Given the description of an element on the screen output the (x, y) to click on. 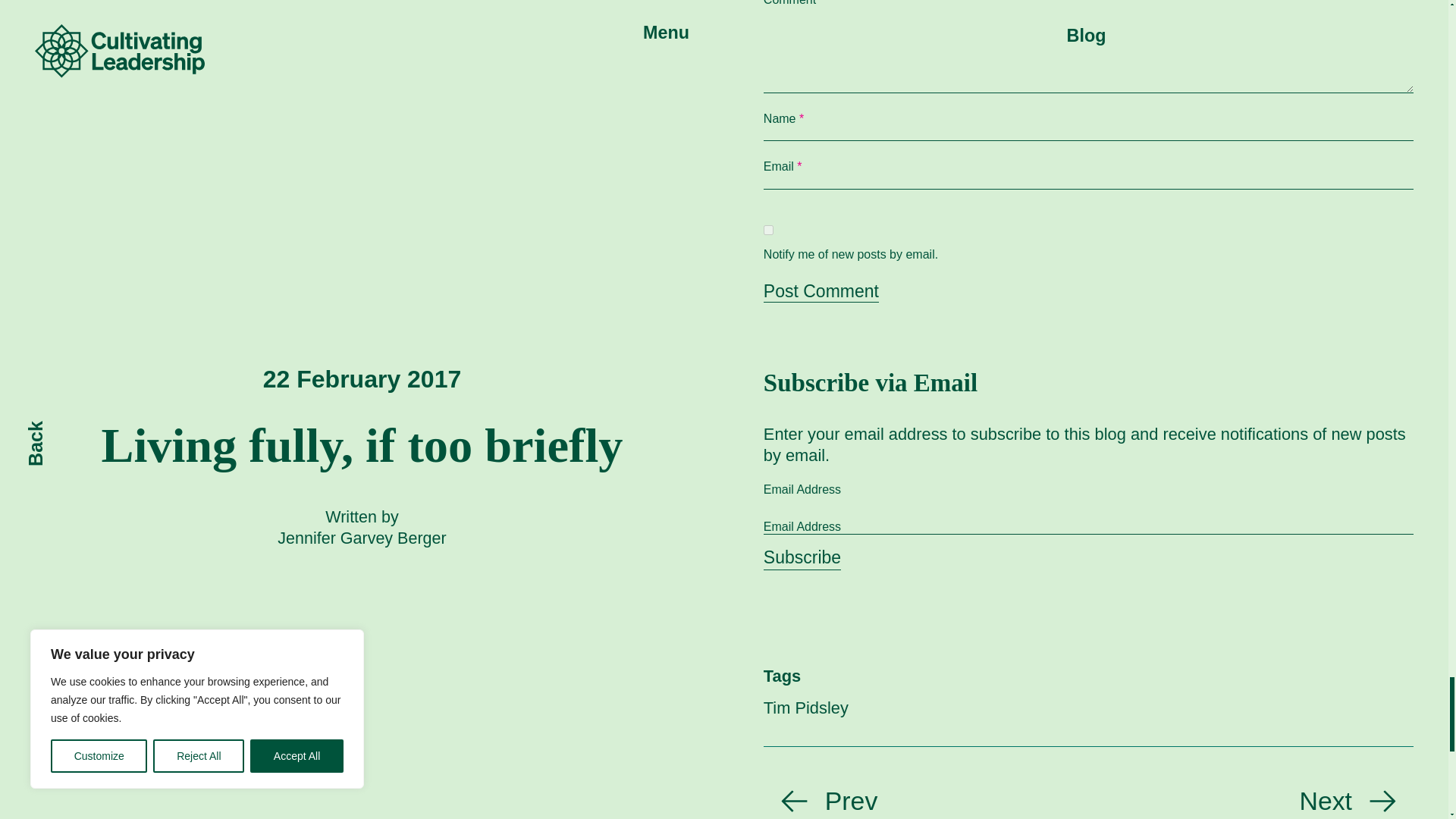
Post Comment (820, 291)
subscribe (767, 230)
